Given the description of an element on the screen output the (x, y) to click on. 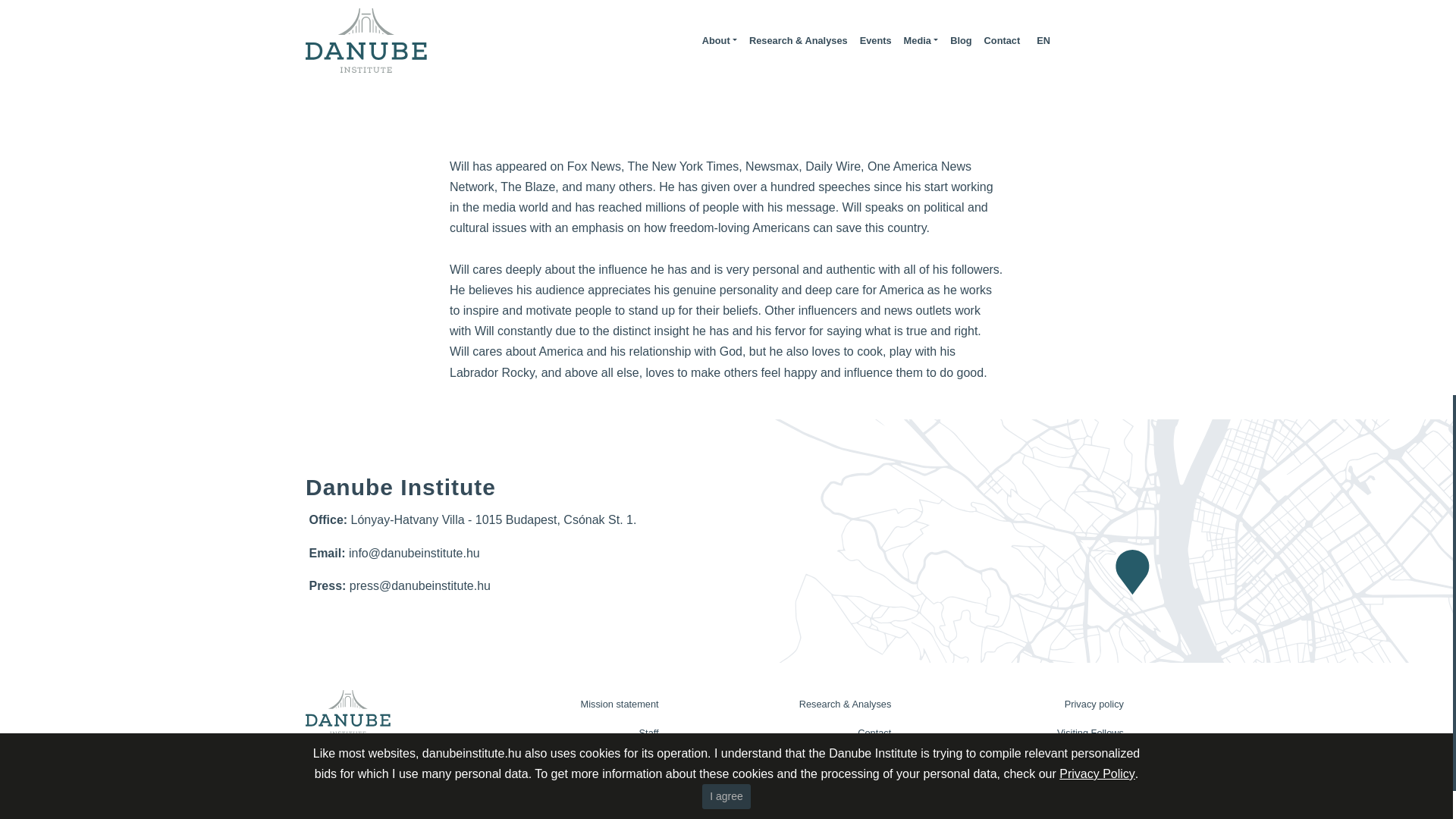
Visiting Fellows (1030, 733)
Mission statement (566, 704)
Staff (566, 733)
Videos (566, 760)
Contact (799, 733)
YouTube video player (726, 74)
Mission statement (566, 704)
Privacy policy (1030, 704)
